Given the description of an element on the screen output the (x, y) to click on. 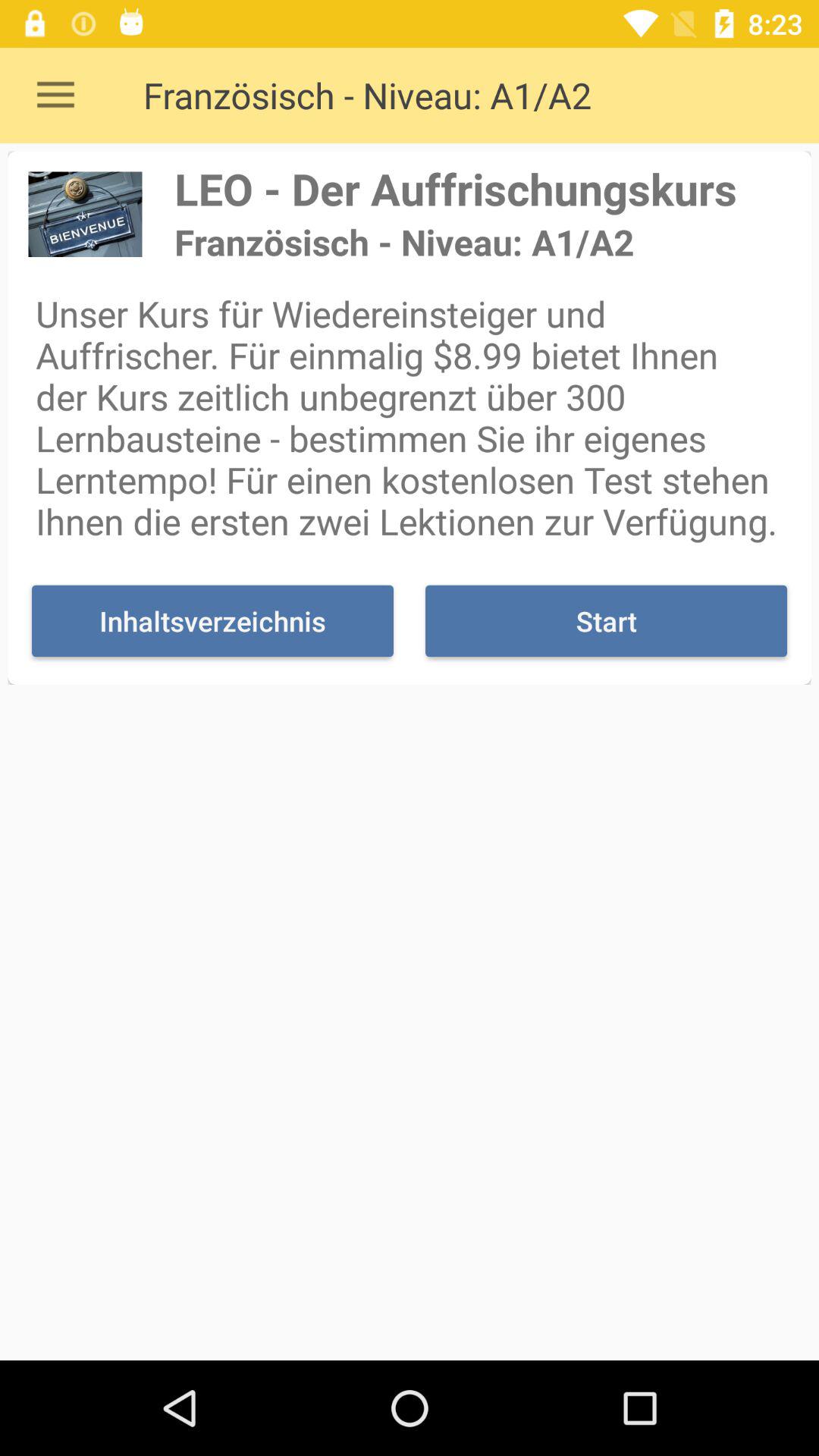
open item next to the inhaltsverzeichnis (606, 620)
